Given the description of an element on the screen output the (x, y) to click on. 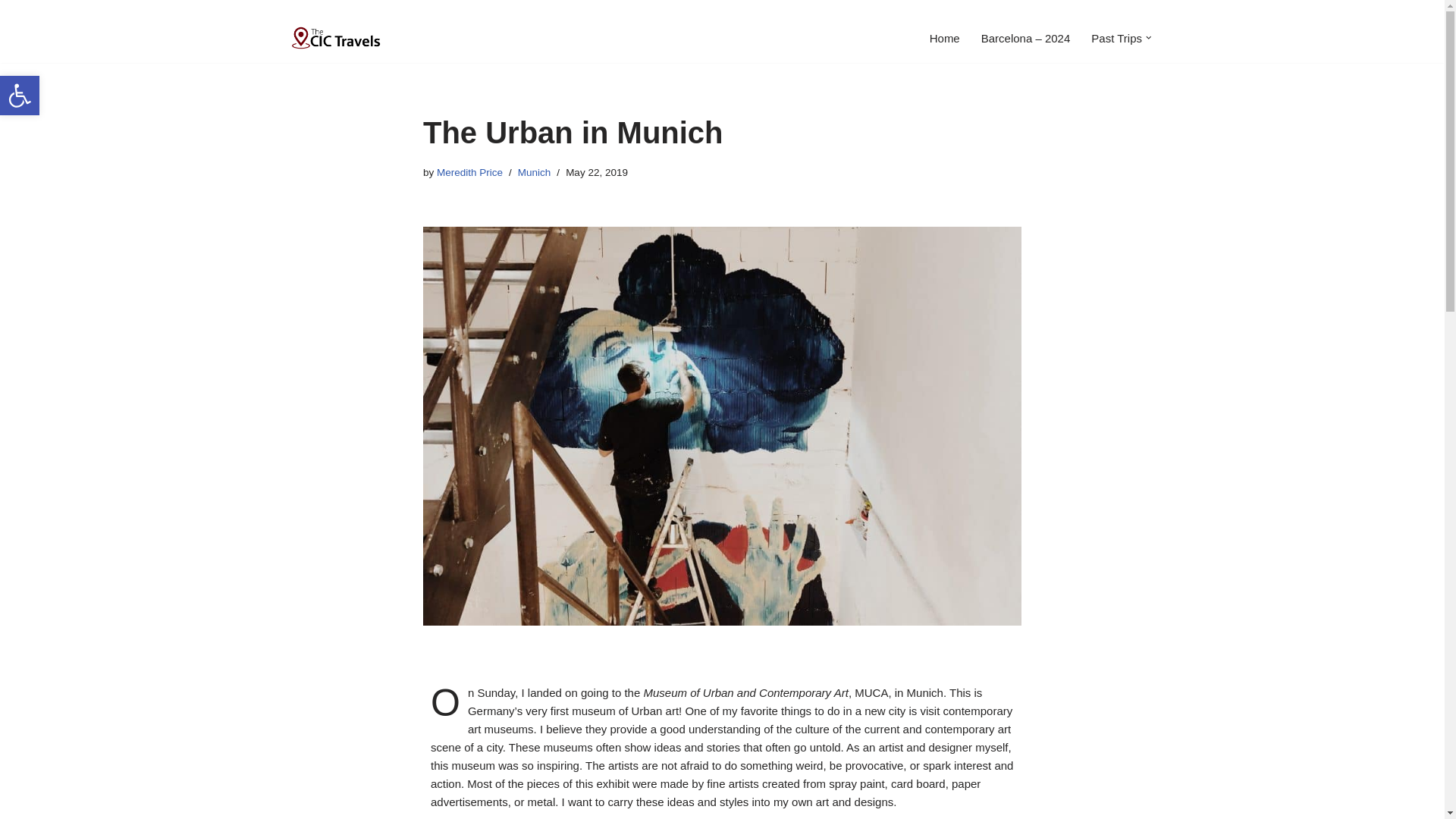
Past Trips (1115, 37)
Home (19, 95)
Accessibility Tools (944, 37)
Accessibility Tools (19, 95)
Posts by Meredith Price (19, 95)
Skip to content (469, 172)
